Given the description of an element on the screen output the (x, y) to click on. 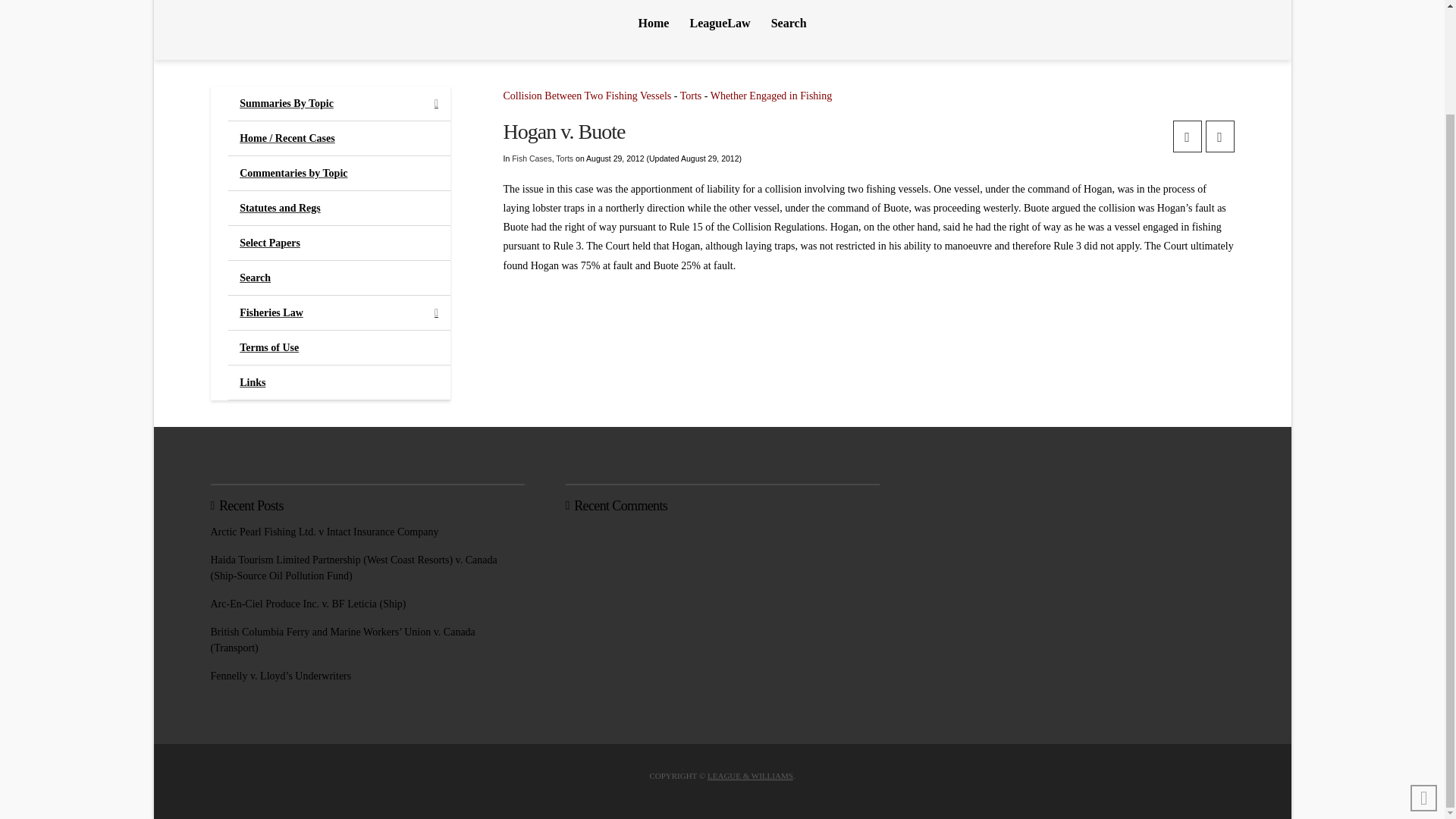
Back to Top (1423, 675)
Whether Engaged in Fishing (771, 95)
Fish Cases (531, 157)
Summaries By Topic (338, 103)
Torts (690, 95)
Search (788, 29)
Collision Between Two Fishing Vessels (587, 95)
LeagueLaw (719, 29)
Torts (564, 157)
